Given the description of an element on the screen output the (x, y) to click on. 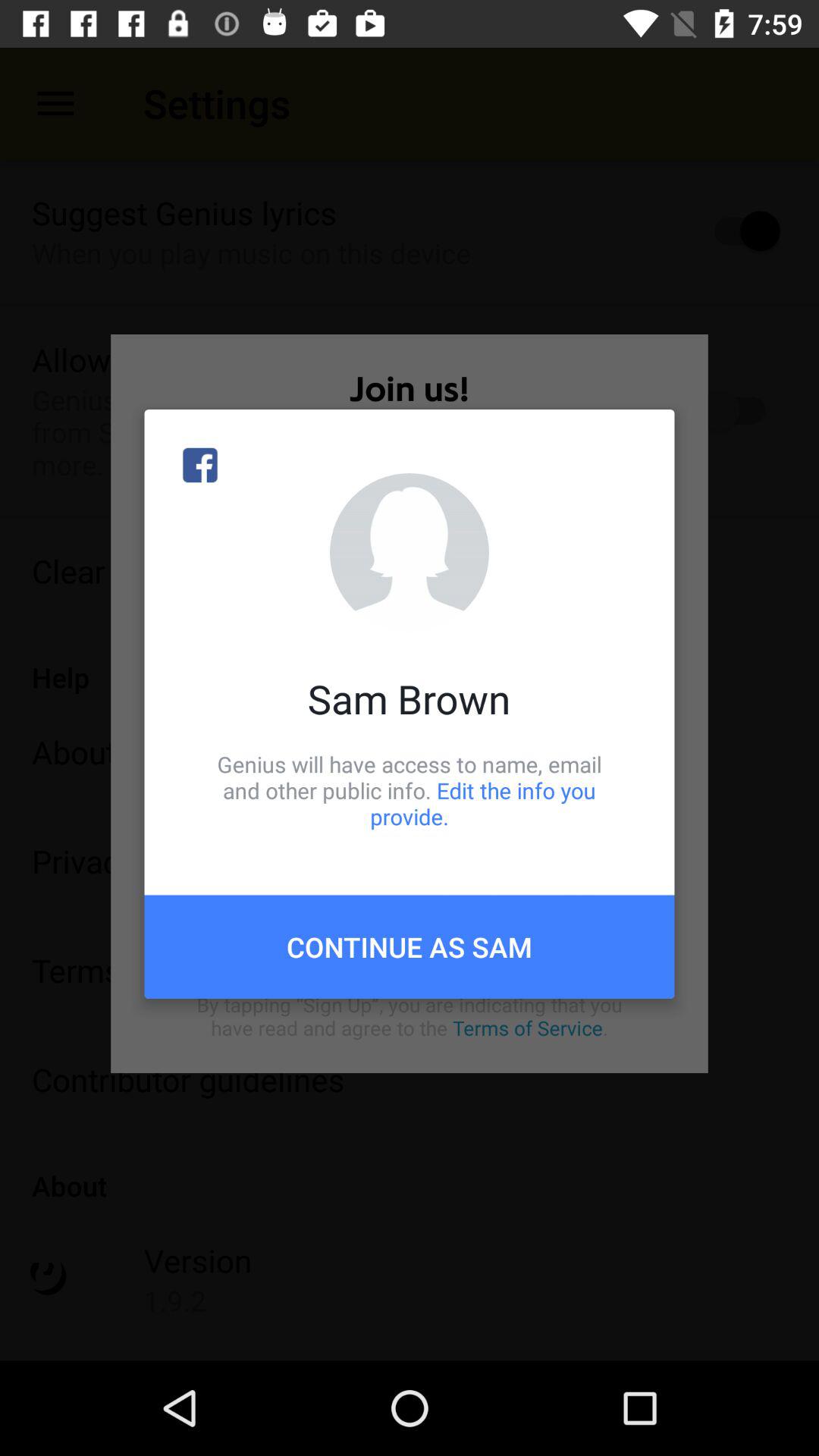
open the item above continue as sam (409, 790)
